Given the description of an element on the screen output the (x, y) to click on. 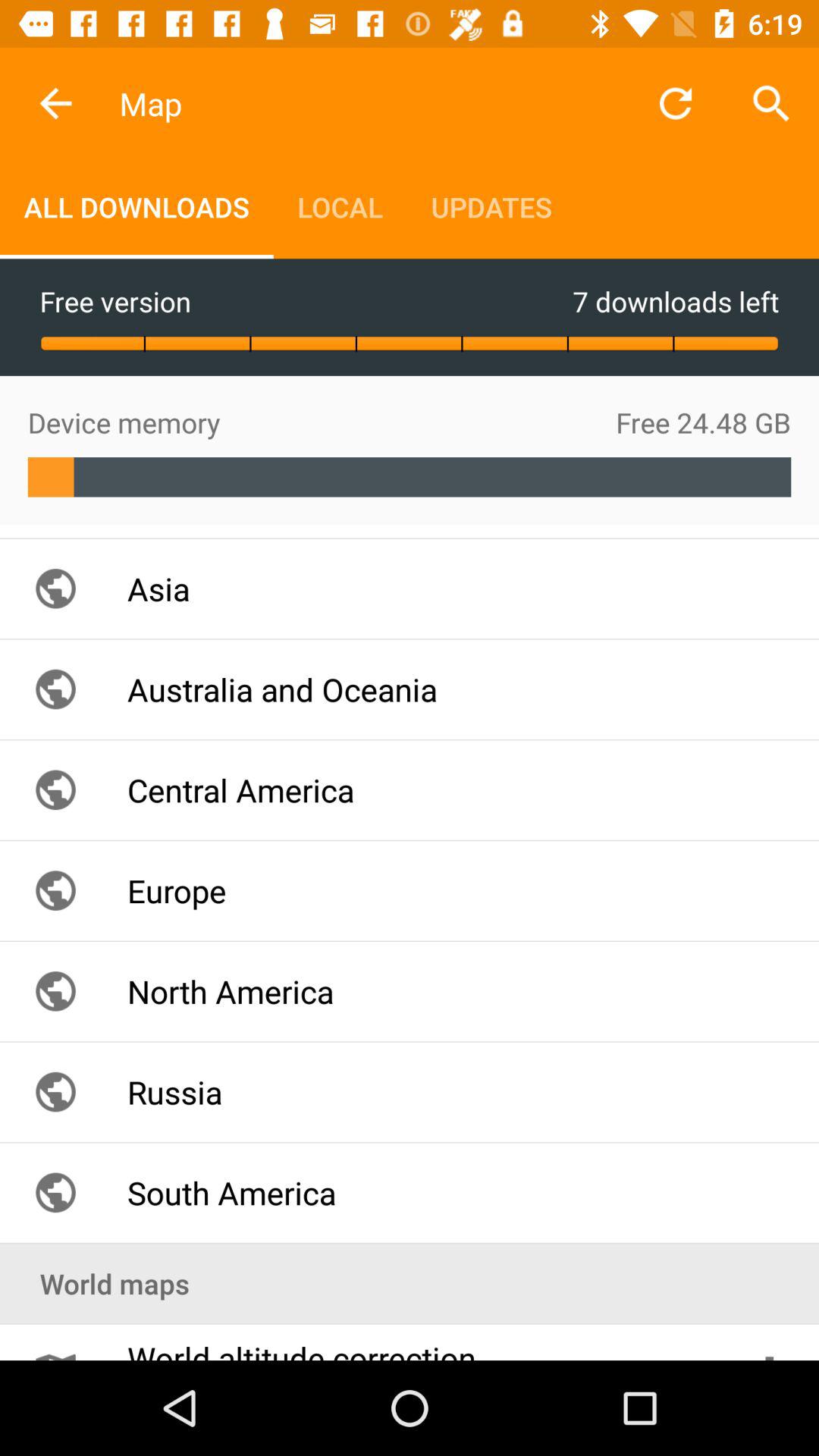
open the item next to the all downloads icon (340, 206)
